Given the description of an element on the screen output the (x, y) to click on. 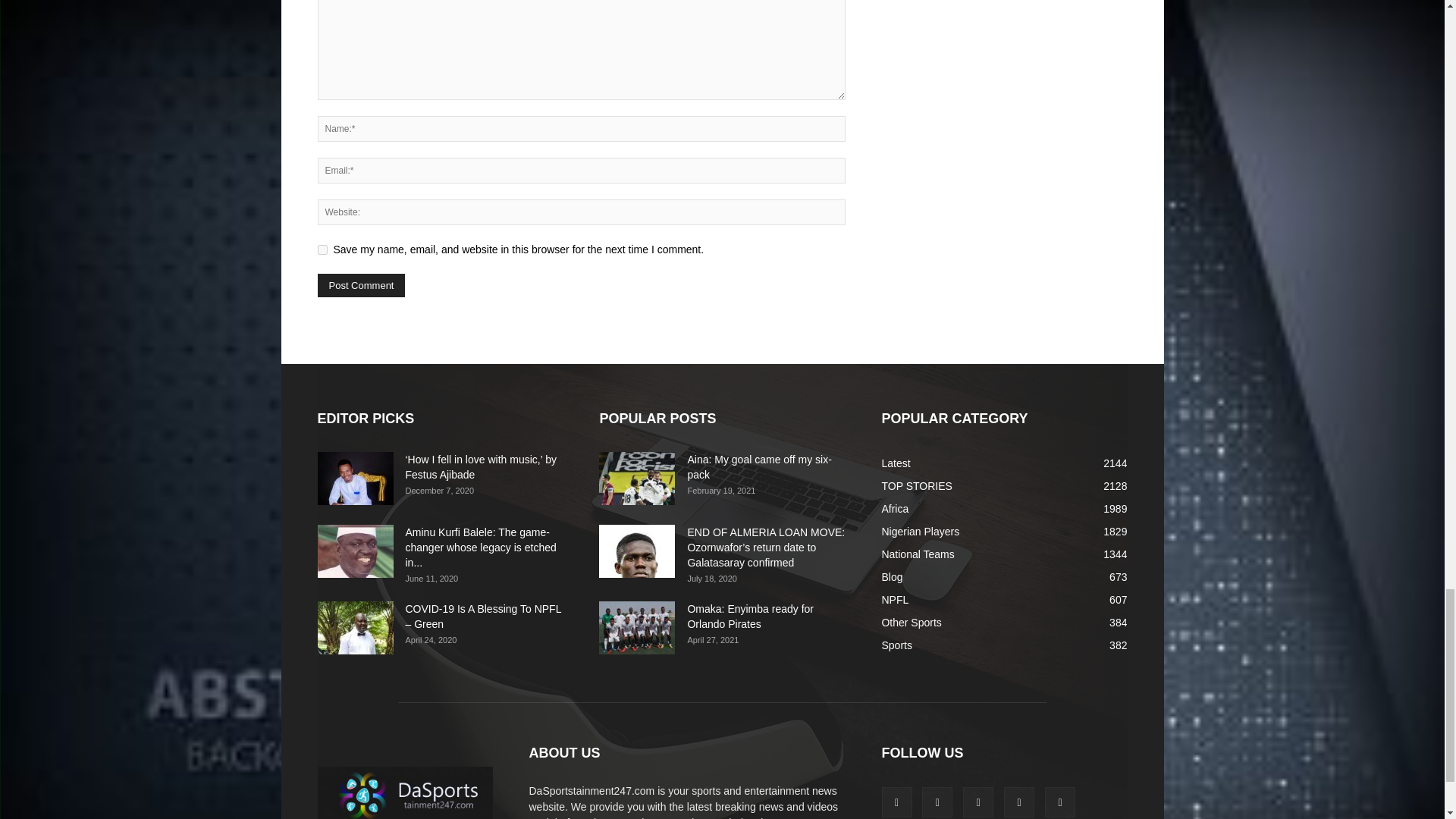
yes (321, 249)
Post Comment (360, 285)
